Given the description of an element on the screen output the (x, y) to click on. 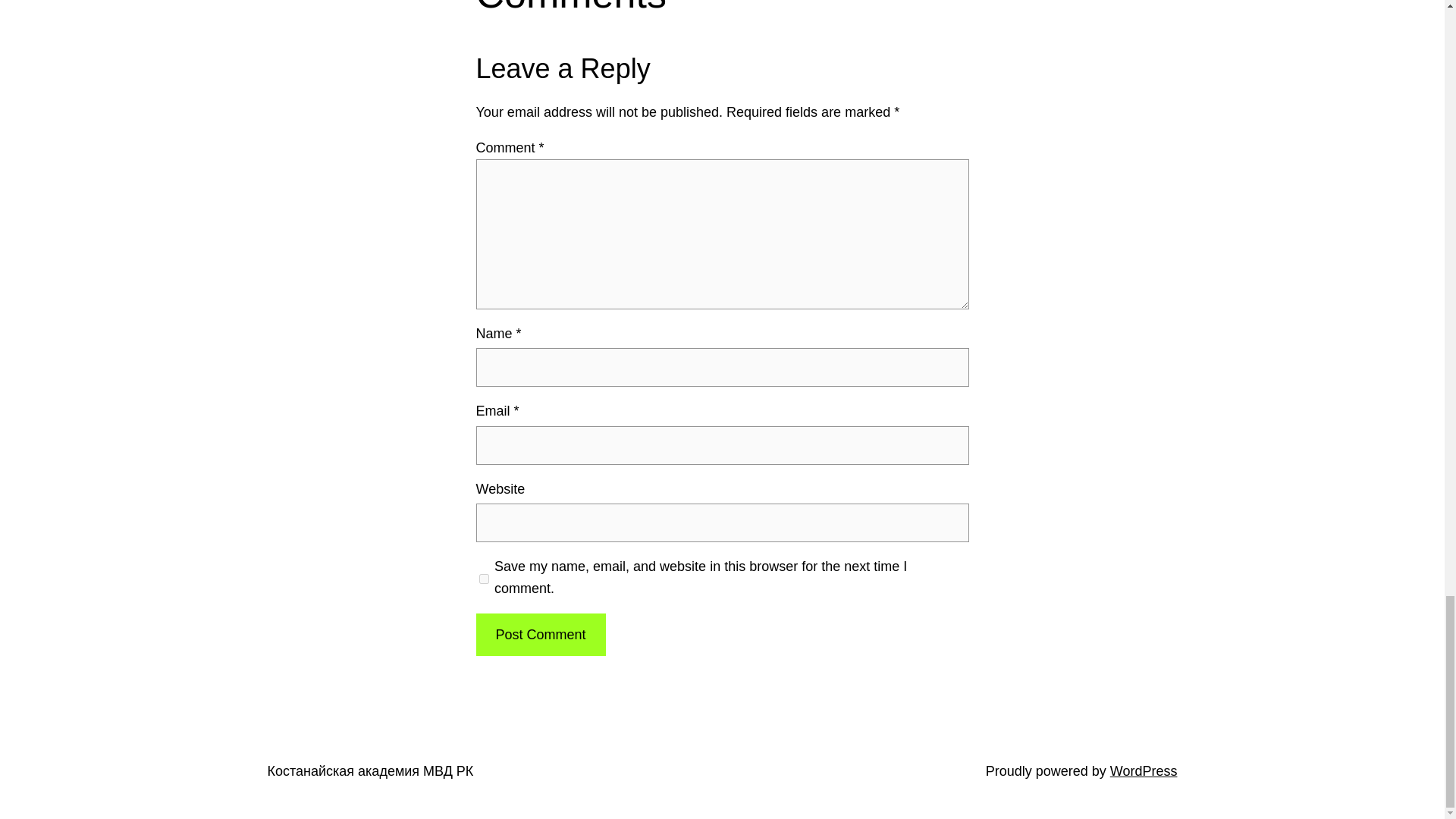
Post Comment (540, 634)
Post Comment (540, 634)
WordPress (1143, 770)
